Given the description of an element on the screen output the (x, y) to click on. 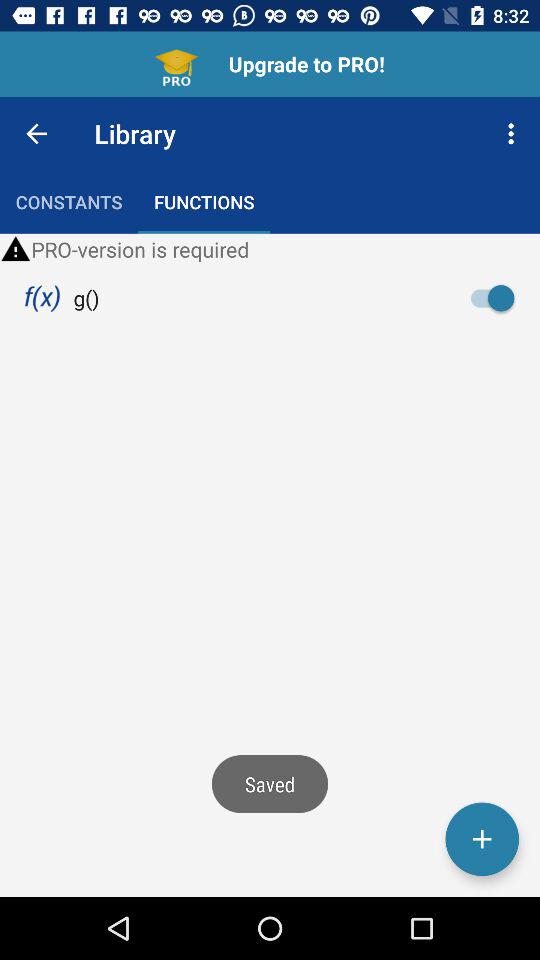
swipe to the pro version is (270, 249)
